Given the description of an element on the screen output the (x, y) to click on. 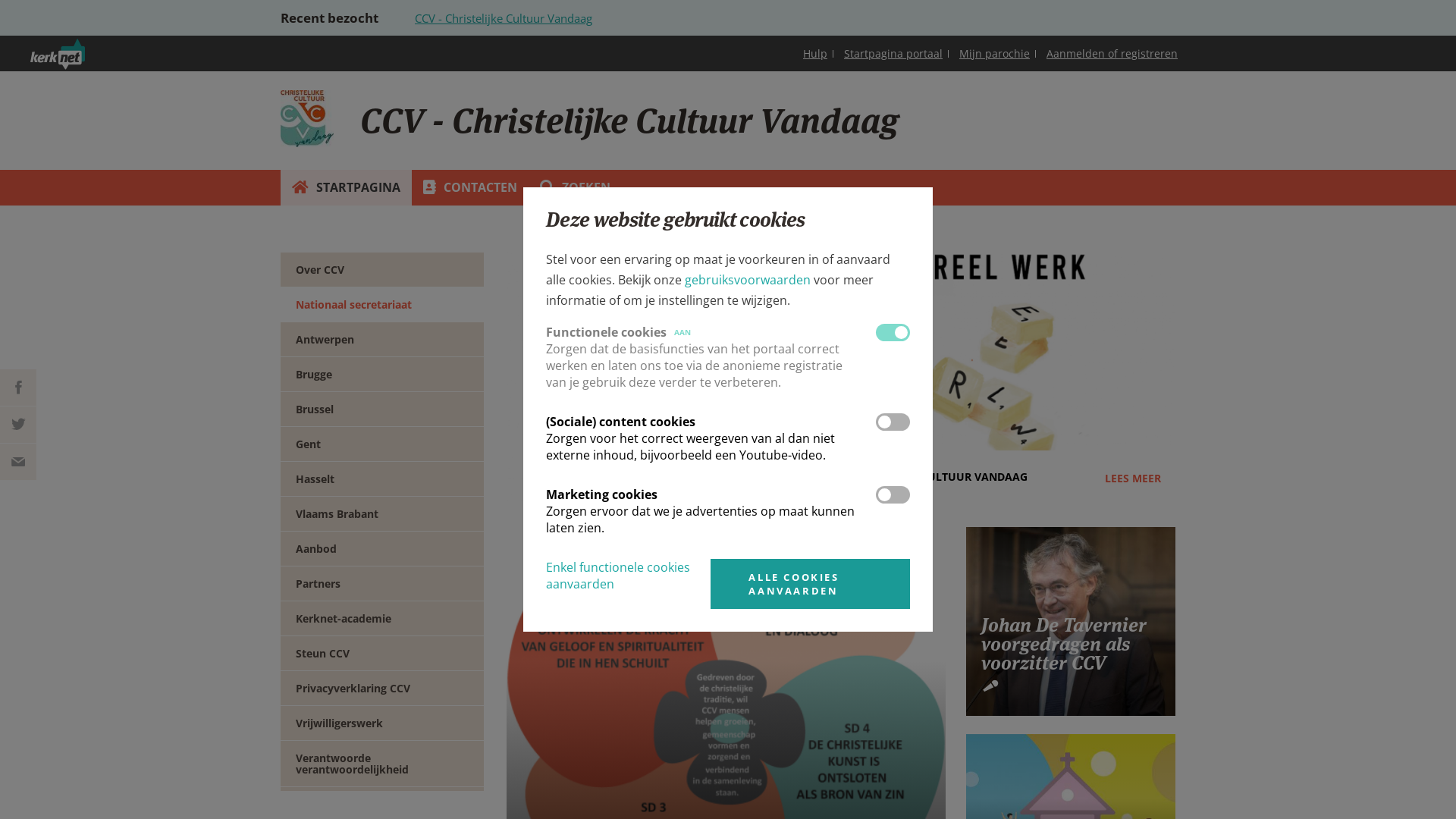
Vlaams Brabant Element type: text (381, 513)
LEES MEER Element type: text (1132, 477)
Aanmelden of registreren Element type: text (1111, 53)
Enkel functionele cookies aanvaarden Element type: text (618, 575)
Mijn parochie Element type: text (994, 53)
Startpagina portaal Element type: text (893, 53)
gebruiksvoorwaarden Element type: text (747, 279)
kerknet Element type: text (91, 72)
. Element type: text (840, 345)
Nationaal secretariaat Element type: text (381, 304)
CCV - Christelijke Cultuur Vandaag Element type: text (503, 18)
Hulp Element type: text (815, 53)
CONTACTEN Element type: text (469, 187)
Verantwoorde verantwoordelijkheid Element type: text (381, 763)
Vrijwilligerswerk Element type: text (381, 723)
Partners Element type: text (381, 583)
CCV - Christelijke Cultuur Vandaag Element type: hover (306, 118)
Gent Element type: text (381, 443)
Antwerpen Element type: text (381, 339)
ZOEKEN Element type: text (574, 187)
Kerknet-academie Element type: text (381, 618)
ALLE COOKIES AANVAARDEN Element type: text (810, 583)
Overslaan en naar de inhoud gaan Element type: text (98, 0)
Johan De Tavernier voorgedragen als voorzitter CCV Element type: text (1063, 643)
STARTPAGINA Element type: text (345, 187)
Privacyverklaring CCV Element type: text (381, 688)
Brugge Element type: text (381, 374)
Over CCV Element type: text (381, 269)
Brussel Element type: text (381, 409)
Aanbod Element type: text (381, 548)
Hasselt Element type: text (381, 478)
Steun CCV Element type: text (381, 653)
readmore Element type: text (1070, 621)
DE FEDERATIE  Element type: hover (840, 378)
